Given the description of an element on the screen output the (x, y) to click on. 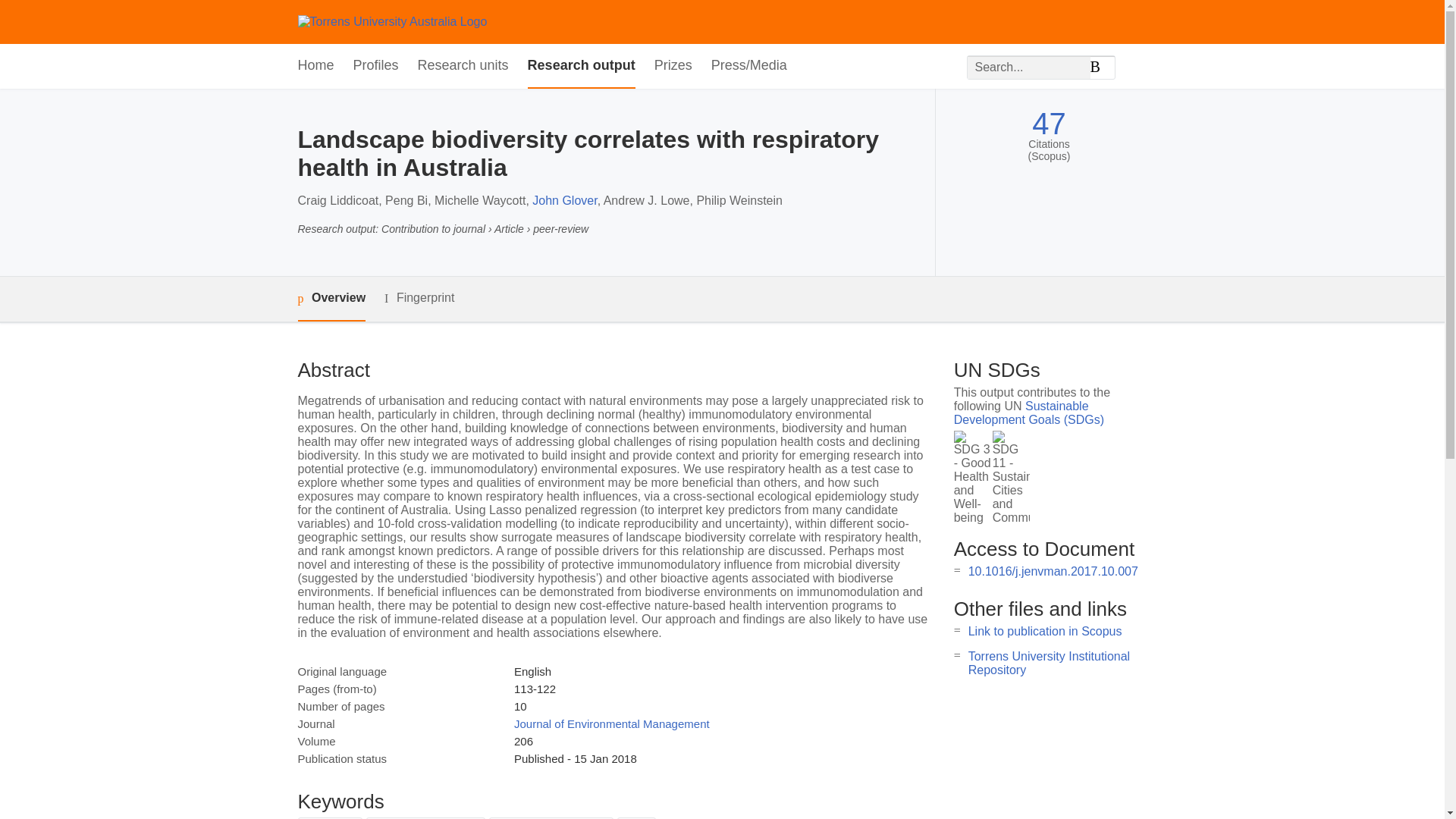
47 (1048, 123)
Profiles (375, 66)
Fingerprint (419, 298)
Torrens University Australia Home (391, 21)
John Glover (564, 200)
Torrens University Institutional Repository (1048, 663)
Journal of Environmental Management (611, 723)
Link to publication in Scopus (1045, 631)
Research output (580, 66)
